Given the description of an element on the screen output the (x, y) to click on. 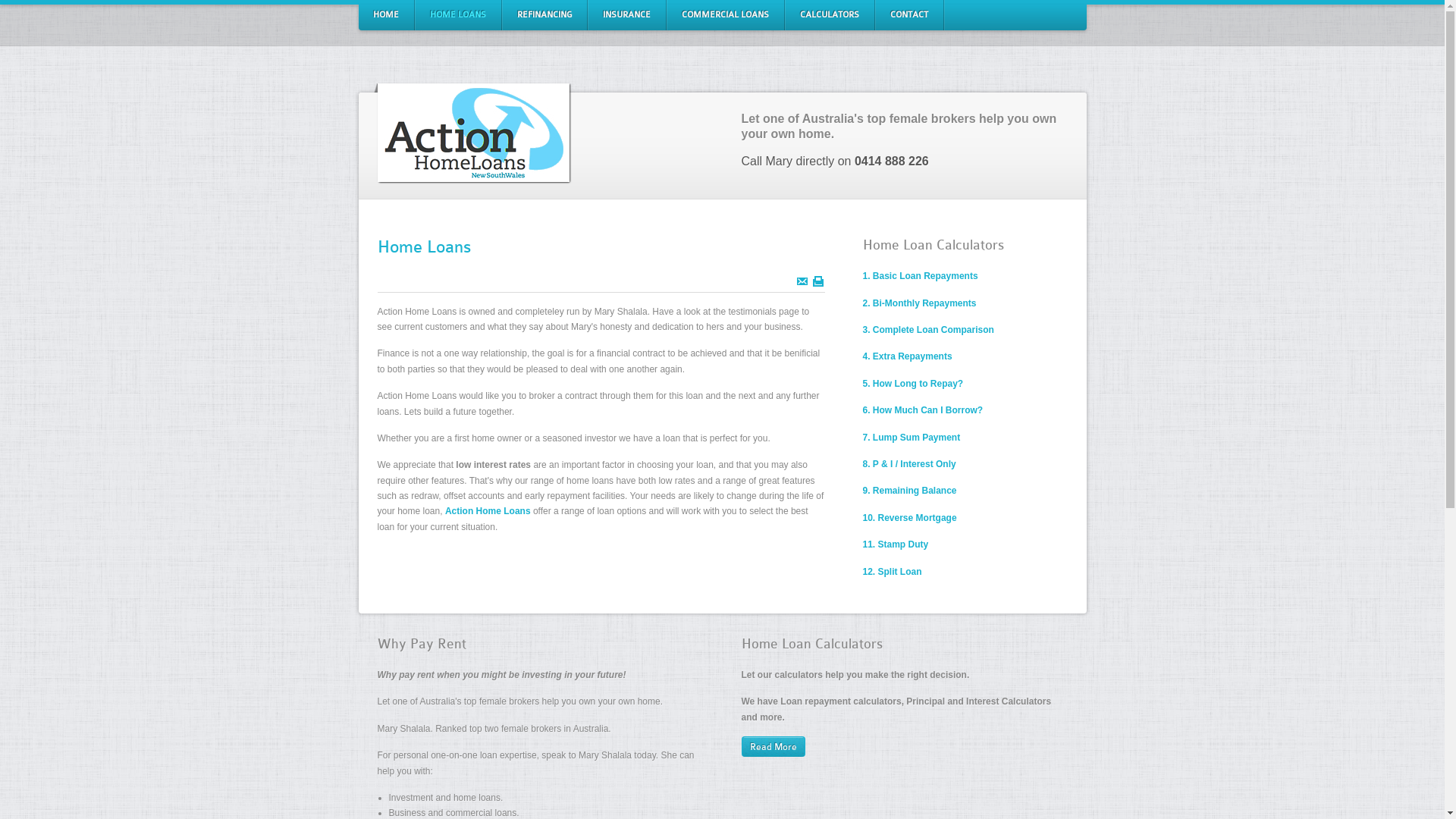
Home Loans Element type: text (423, 246)
9. Remaining Balance Element type: text (909, 490)
5. How Long to Repay? Element type: text (912, 383)
3. Complete Loan Comparison Element type: text (928, 329)
COMMERCIAL LOANS Element type: text (724, 15)
Action Home Loans Element type: text (487, 510)
CONTACT Element type: text (909, 15)
REFINANCING Element type: text (544, 15)
INSURANCE Element type: text (625, 15)
10. Reverse Mortgage Element type: text (909, 517)
6. How Much Can I Borrow? Element type: text (922, 409)
2. Bi-Monthly Repayments Element type: text (919, 303)
Email Element type: hover (801, 281)
7. Lump Sum Payment Element type: text (911, 437)
1. Basic Loan Repayments Element type: text (920, 275)
12. Split Loan Element type: text (892, 571)
11. Stamp Duty Element type: text (895, 544)
CALCULATORS Element type: text (828, 15)
HOME LOANS Element type: text (457, 15)
Read More Element type: text (773, 746)
HOME Element type: text (385, 15)
4. Extra Repayments Element type: text (907, 356)
8. P & I / Interest Only Element type: text (909, 463)
Print Element type: hover (818, 281)
